Given the description of an element on the screen output the (x, y) to click on. 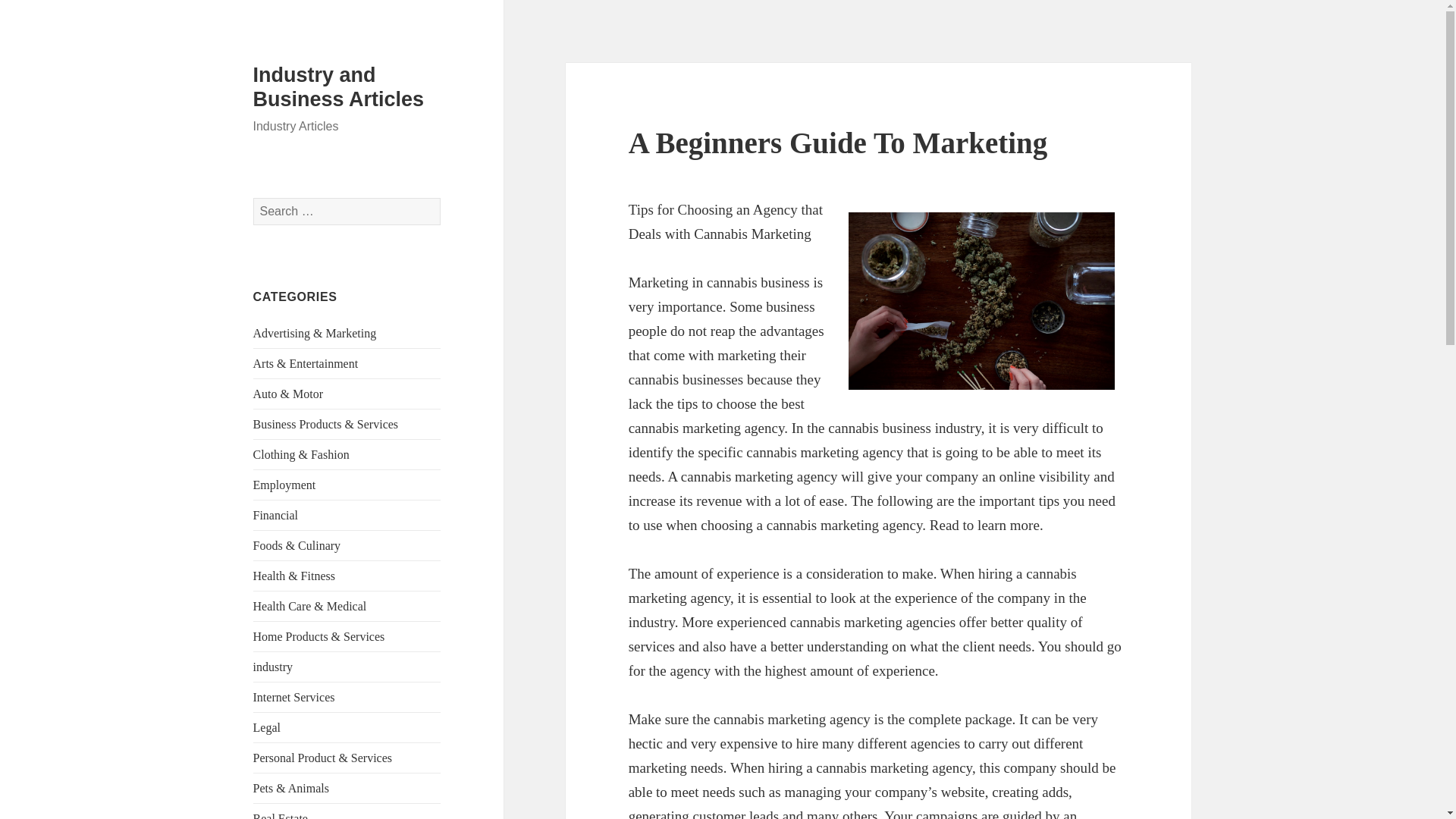
Legal (267, 727)
Industry and Business Articles (339, 86)
industry (272, 666)
Financial (275, 514)
Employment (284, 484)
Real Estate (280, 815)
Internet Services (293, 697)
